Given the description of an element on the screen output the (x, y) to click on. 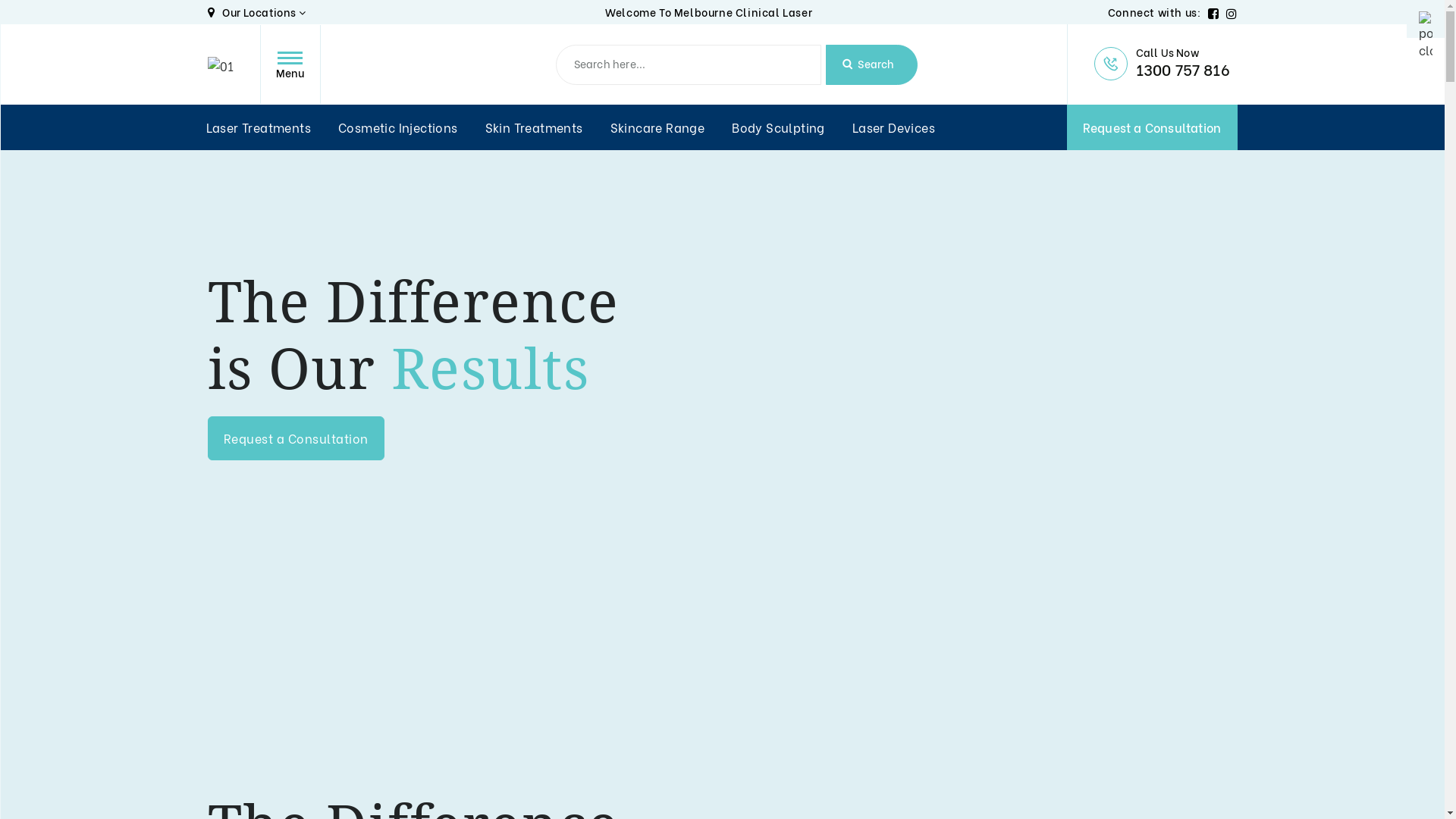
Cosmetic Injections Element type: text (398, 127)
Search Element type: text (870, 63)
Menu Element type: text (290, 64)
Skin Treatments Element type: text (534, 127)
Request a Consultation Element type: text (1151, 127)
Call Us Now
1300 757 816 Element type: text (1164, 63)
Laser Treatments Element type: text (258, 127)
Body Sculpting Element type: text (778, 127)
Laser Devices Element type: text (893, 127)
Our Locations Element type: text (256, 11)
Skincare Range Element type: text (657, 127)
Request a Consultation Element type: text (295, 438)
